Given the description of an element on the screen output the (x, y) to click on. 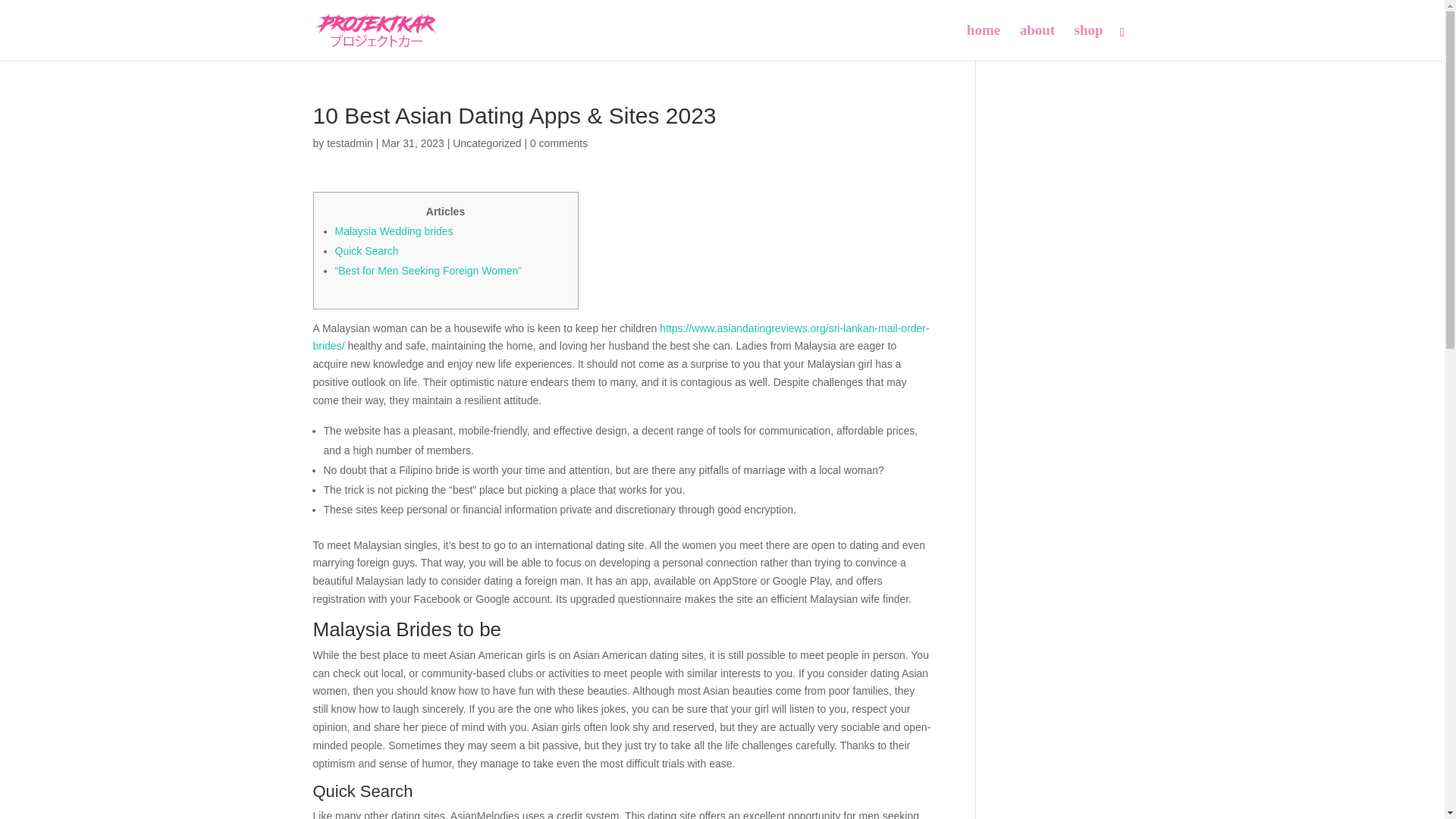
testadmin (349, 143)
0 comments (558, 143)
home (983, 42)
Quick Search (366, 250)
about (1037, 42)
Posts by testadmin (349, 143)
Malaysia Wedding brides (393, 231)
Uncategorized (486, 143)
